Given the description of an element on the screen output the (x, y) to click on. 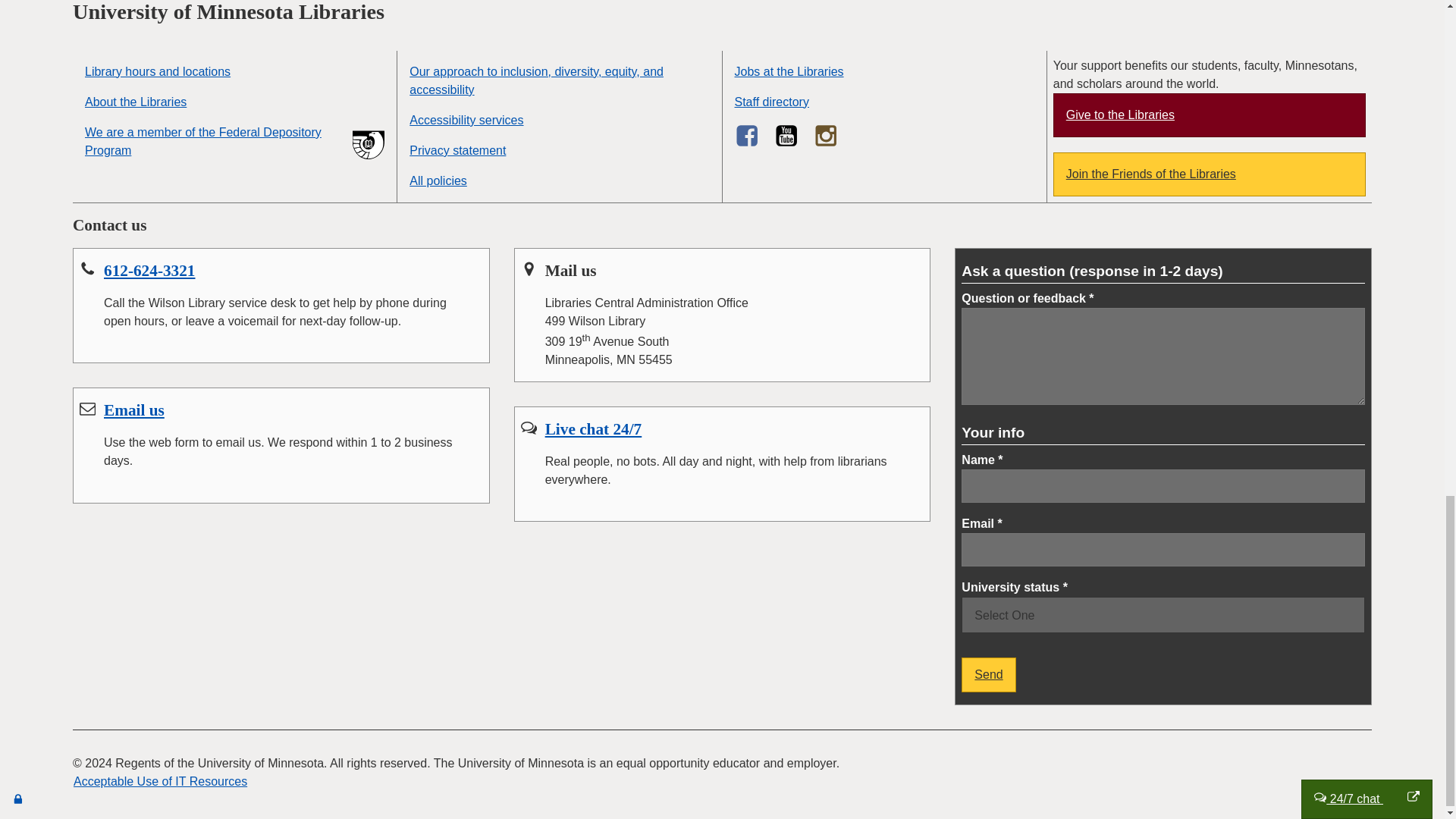
Accessibility services (558, 120)
All policies (558, 181)
We are a member of the Federal Depository Program (234, 141)
Lock Authentication required (17, 799)
Join the Friends of the Libraries (1208, 174)
Library hours and locations (234, 71)
About the Libraries (234, 101)
Facebook A square shape with Facebook's logo (745, 135)
Privacy statement (558, 150)
